Given the description of an element on the screen output the (x, y) to click on. 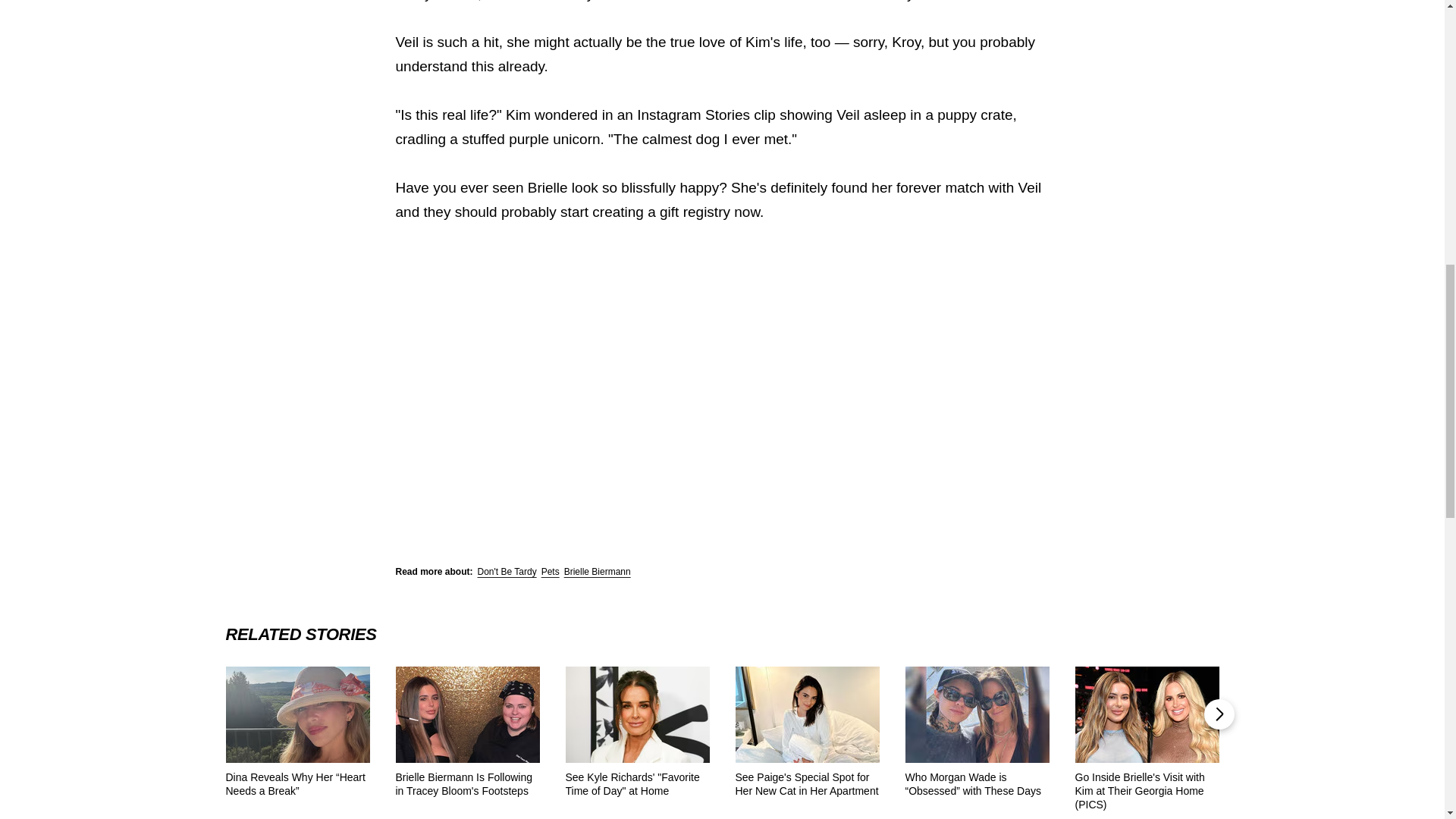
Pets (550, 571)
DECEMBER 11, 2019 (703, 456)
Don't Be Tardy (507, 571)
